Given the description of an element on the screen output the (x, y) to click on. 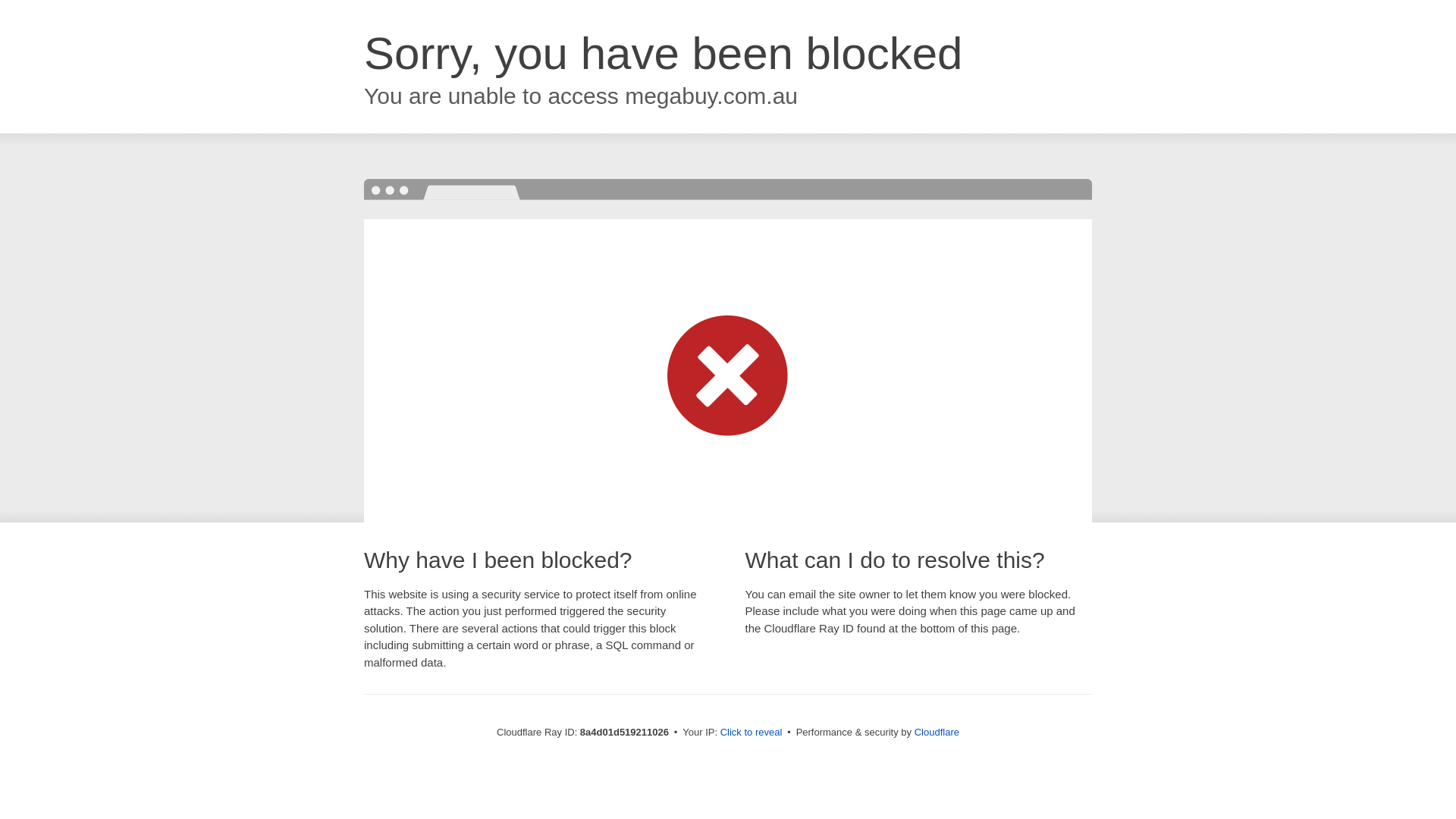
Click to reveal (751, 732)
Cloudflare (936, 731)
